Given the description of an element on the screen output the (x, y) to click on. 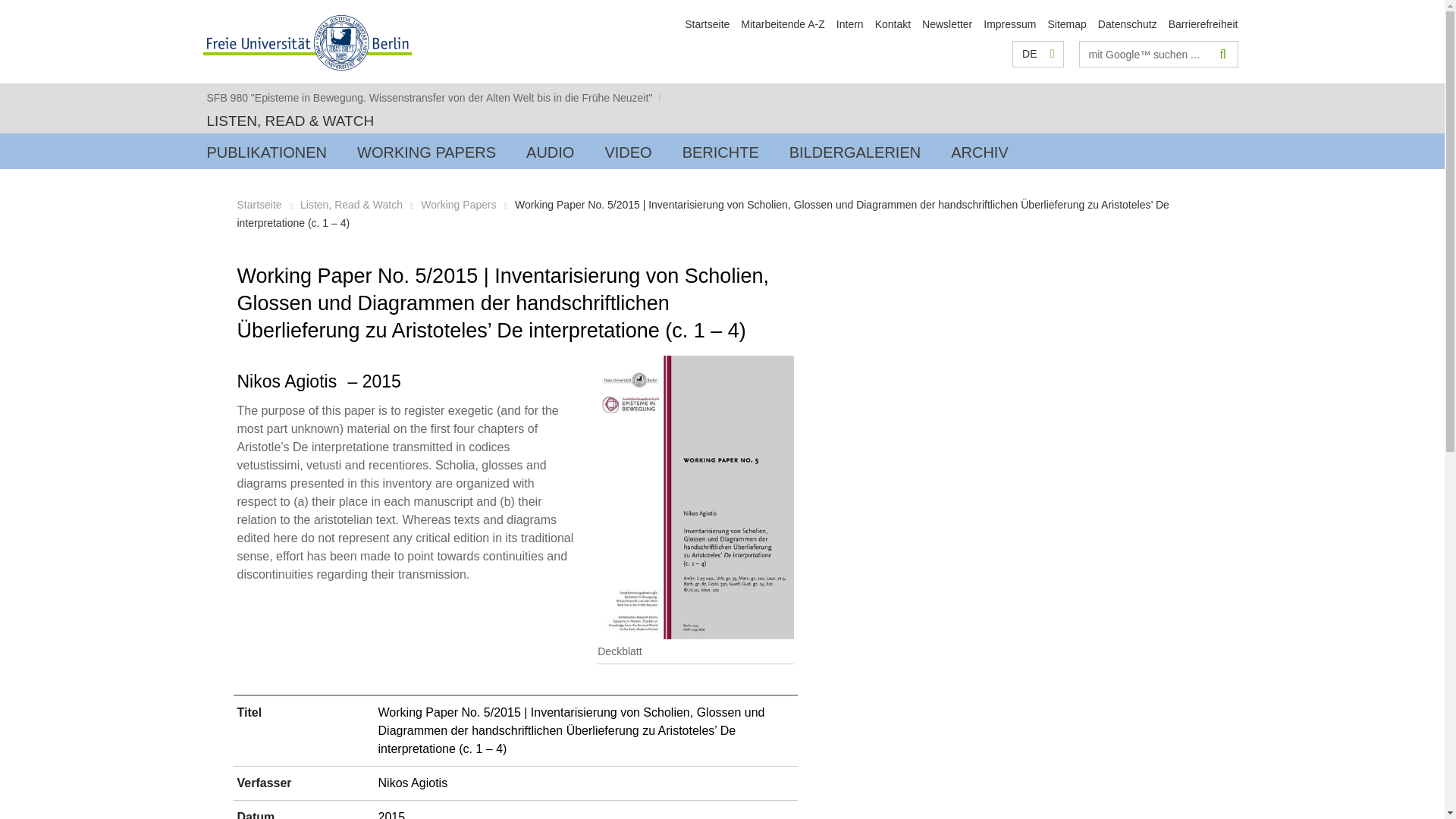
AUDIO (550, 150)
Newsletter (946, 24)
Startseite (258, 204)
WORKING PAPERS (426, 150)
Startseite (706, 24)
Suchbegriff bitte hier eingeben (1144, 53)
VIDEO (627, 150)
Newsletter bestellen (946, 24)
loading... (266, 150)
BERICHTE (720, 150)
Kontakt (893, 24)
Barrierefreiheit (1204, 24)
Working Papers (458, 204)
Impressum (1009, 24)
Sitemap (1066, 24)
